Given the description of an element on the screen output the (x, y) to click on. 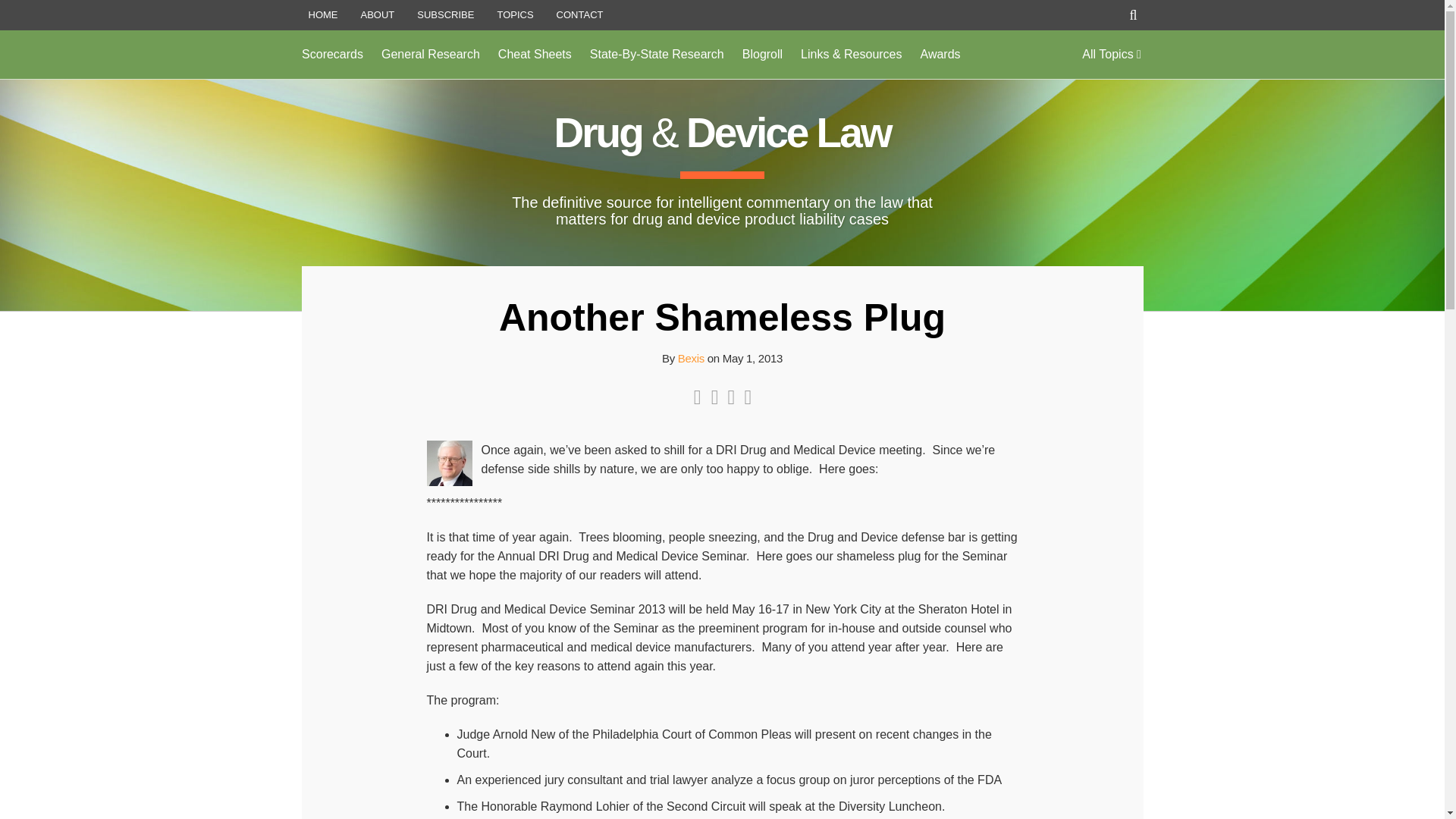
Blogroll (762, 54)
ABOUT (377, 14)
General Research (430, 54)
Cheat Sheets (534, 54)
State-By-State Research (656, 54)
HOME (322, 14)
All Topics (1111, 54)
Bexis (691, 358)
CONTACT (580, 14)
SUBSCRIBE (445, 14)
